Given the description of an element on the screen output the (x, y) to click on. 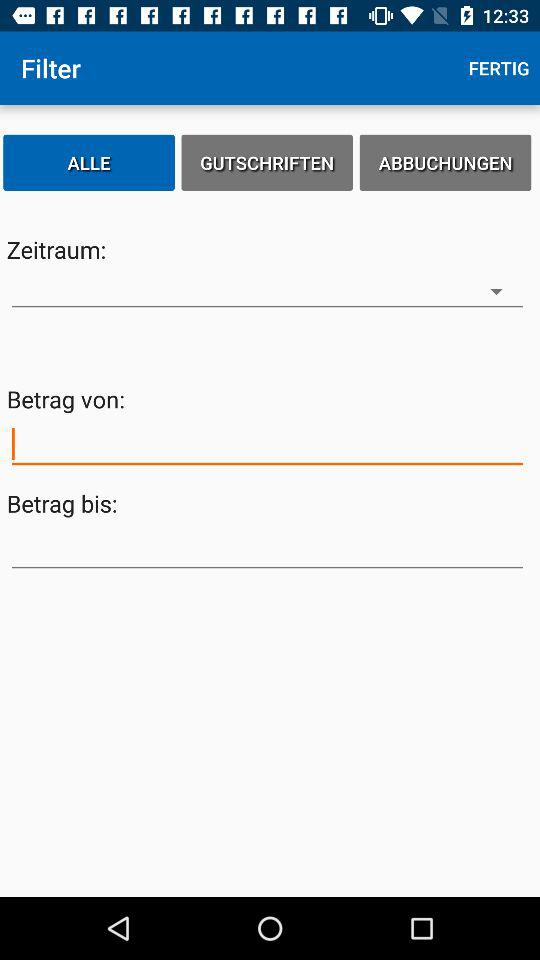
scroll to the alle item (89, 162)
